Given the description of an element on the screen output the (x, y) to click on. 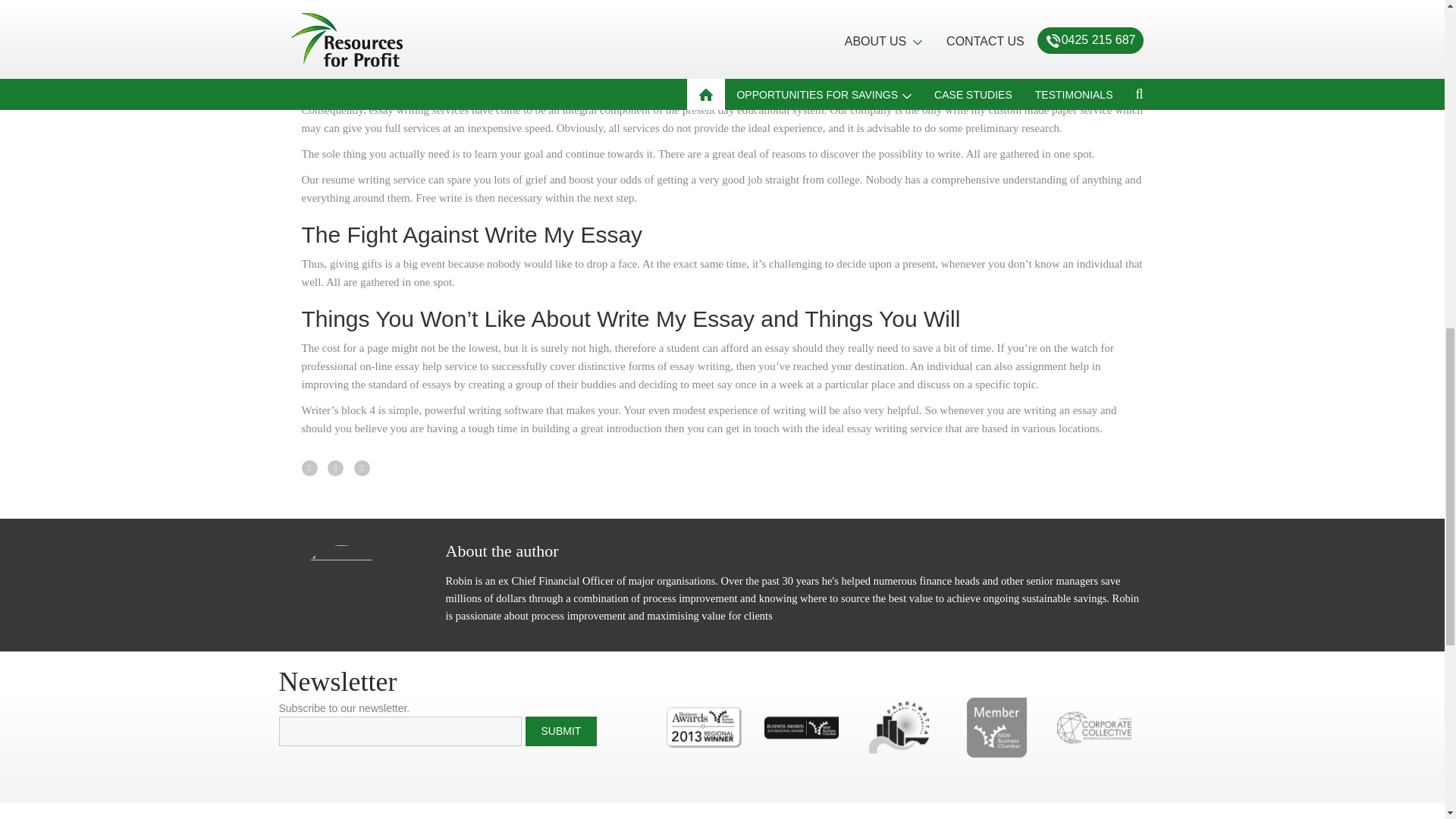
Submit (560, 731)
Email (400, 731)
